Given the description of an element on the screen output the (x, y) to click on. 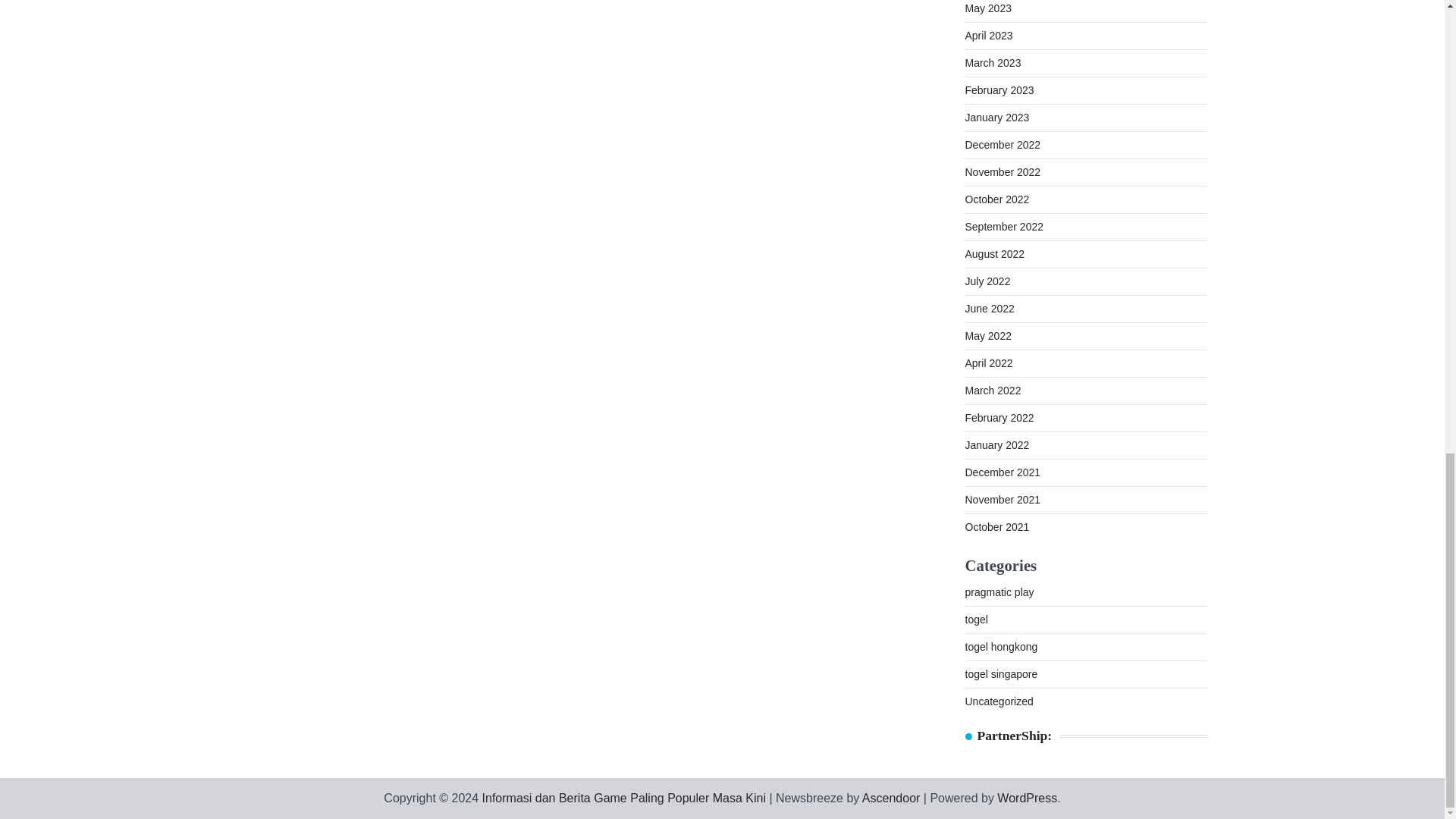
May 2023 (986, 8)
April 2023 (987, 35)
March 2023 (991, 62)
